Given the description of an element on the screen output the (x, y) to click on. 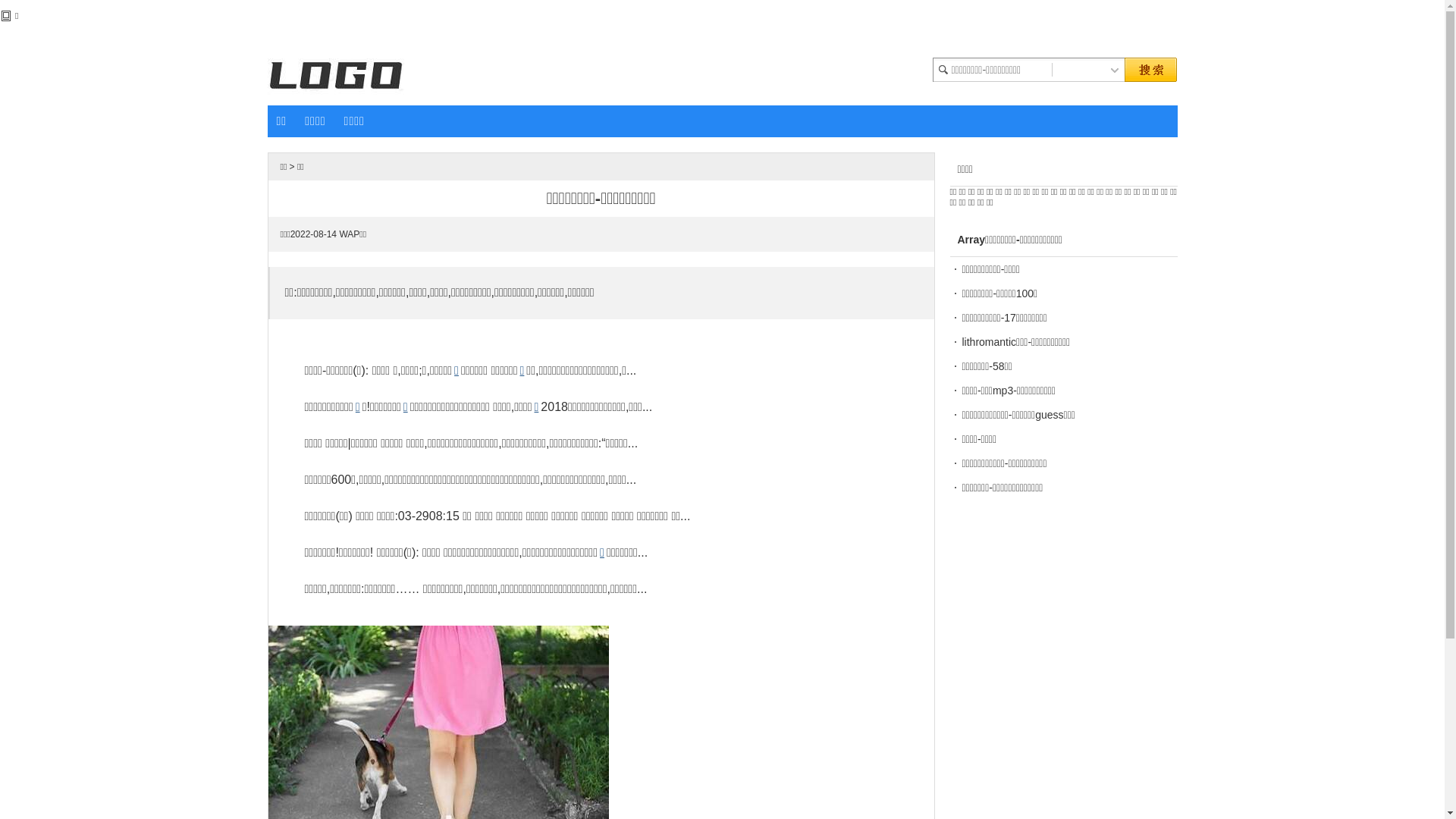
  Element type: text (1113, 69)
